Given the description of an element on the screen output the (x, y) to click on. 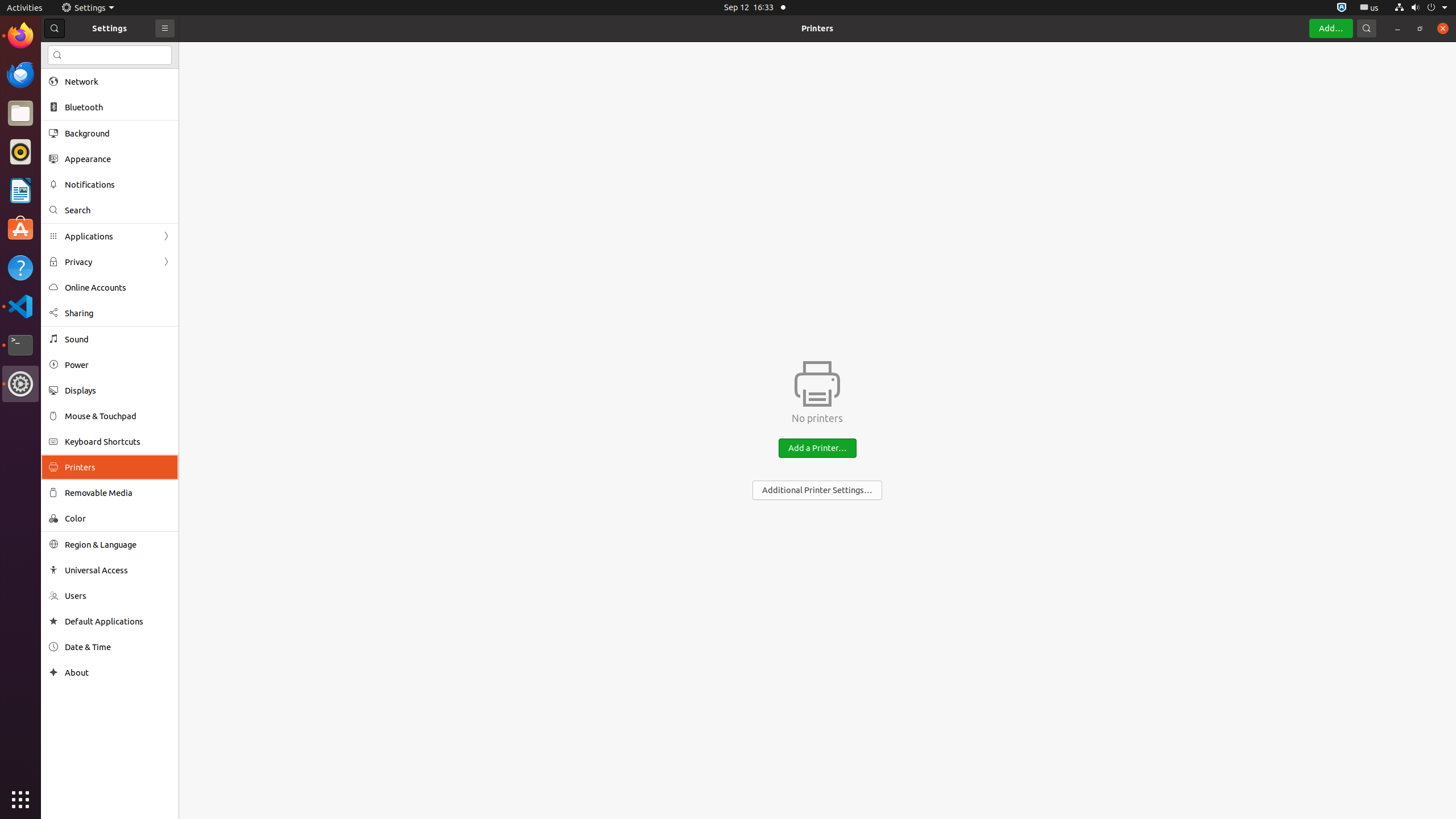
About Element type: label (117, 672)
Minimize Element type: push-button (1397, 27)
Search Element type: text (109, 54)
Universal Access Element type: label (117, 570)
Settings Element type: push-button (20, 383)
